Given the description of an element on the screen output the (x, y) to click on. 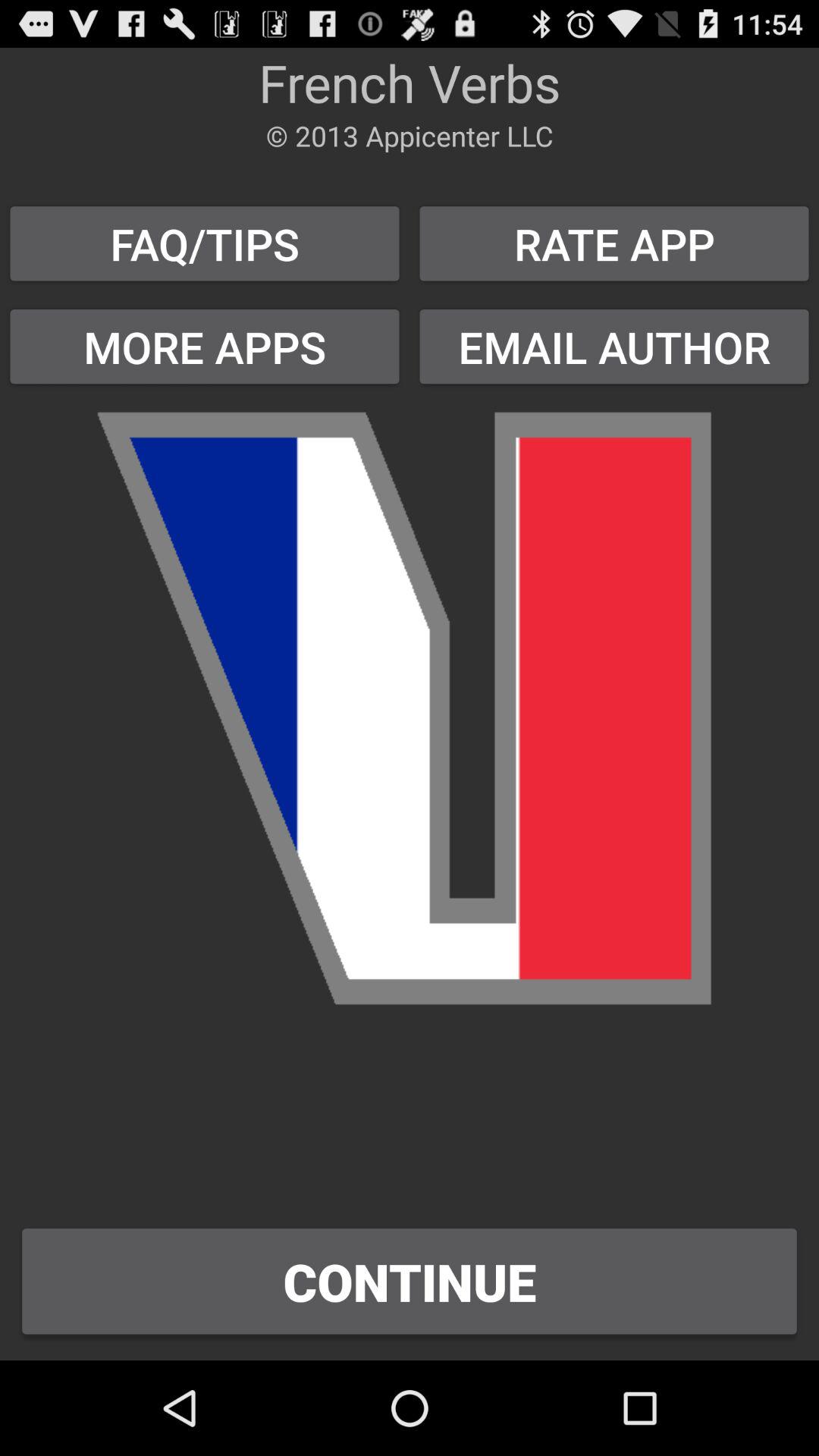
select icon next to rate app (204, 243)
